Given the description of an element on the screen output the (x, y) to click on. 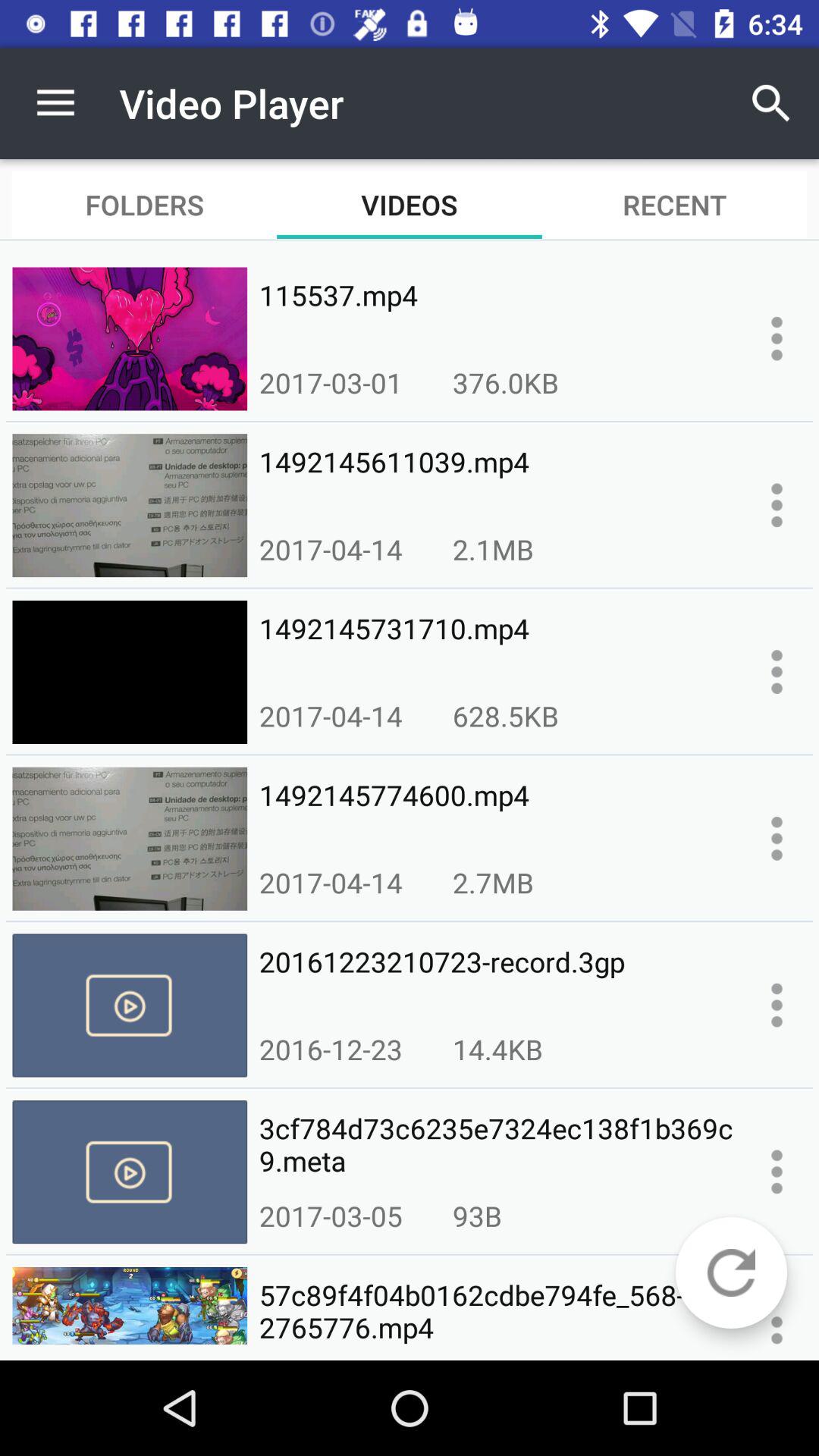
options (776, 1005)
